Given the description of an element on the screen output the (x, y) to click on. 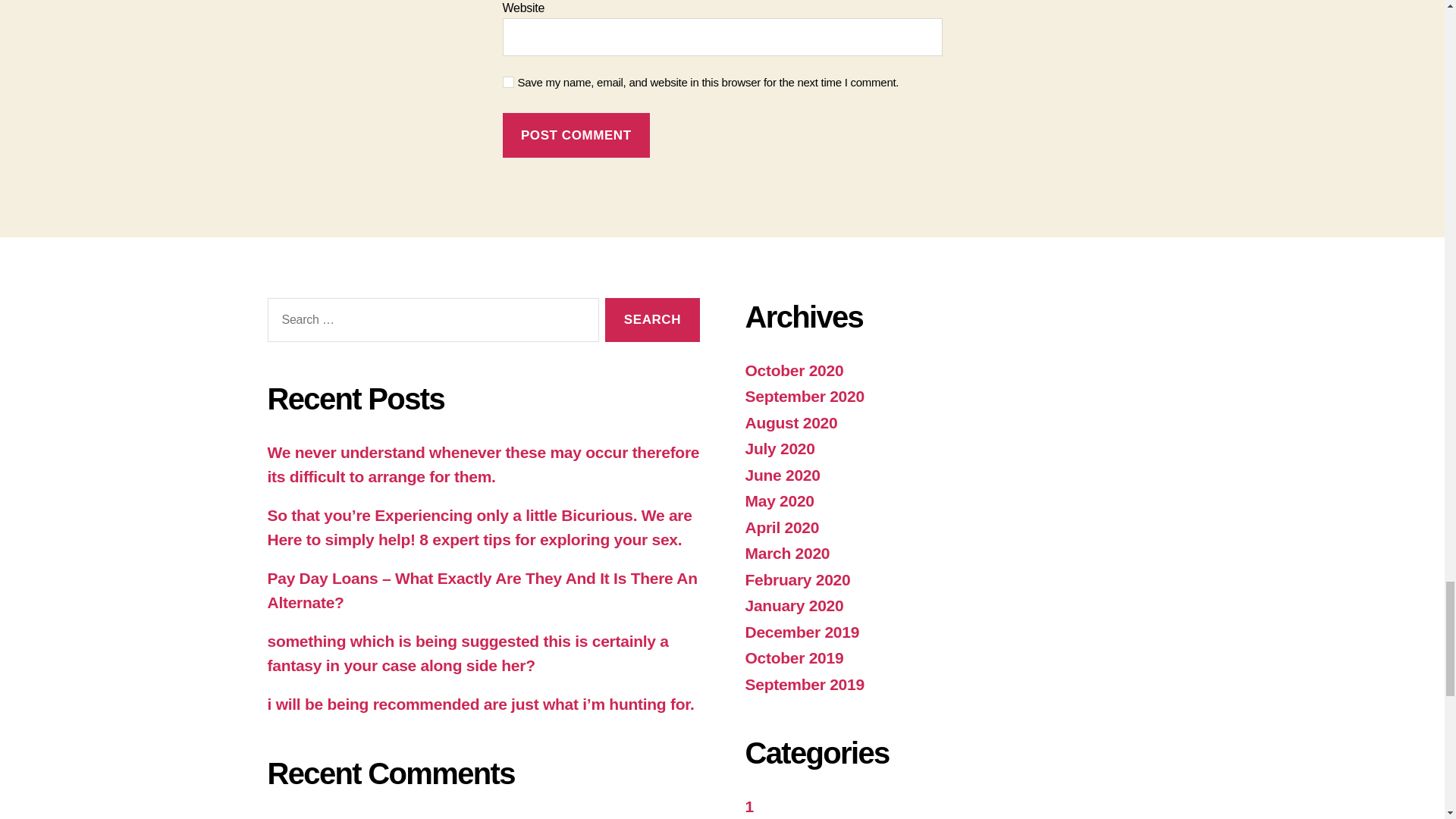
June 2020 (781, 475)
Search (651, 320)
Post Comment (575, 135)
May 2020 (778, 500)
April 2020 (781, 527)
Post Comment (575, 135)
October 2020 (793, 370)
Search (651, 320)
yes (507, 81)
September 2020 (803, 395)
August 2020 (790, 422)
